Given the description of an element on the screen output the (x, y) to click on. 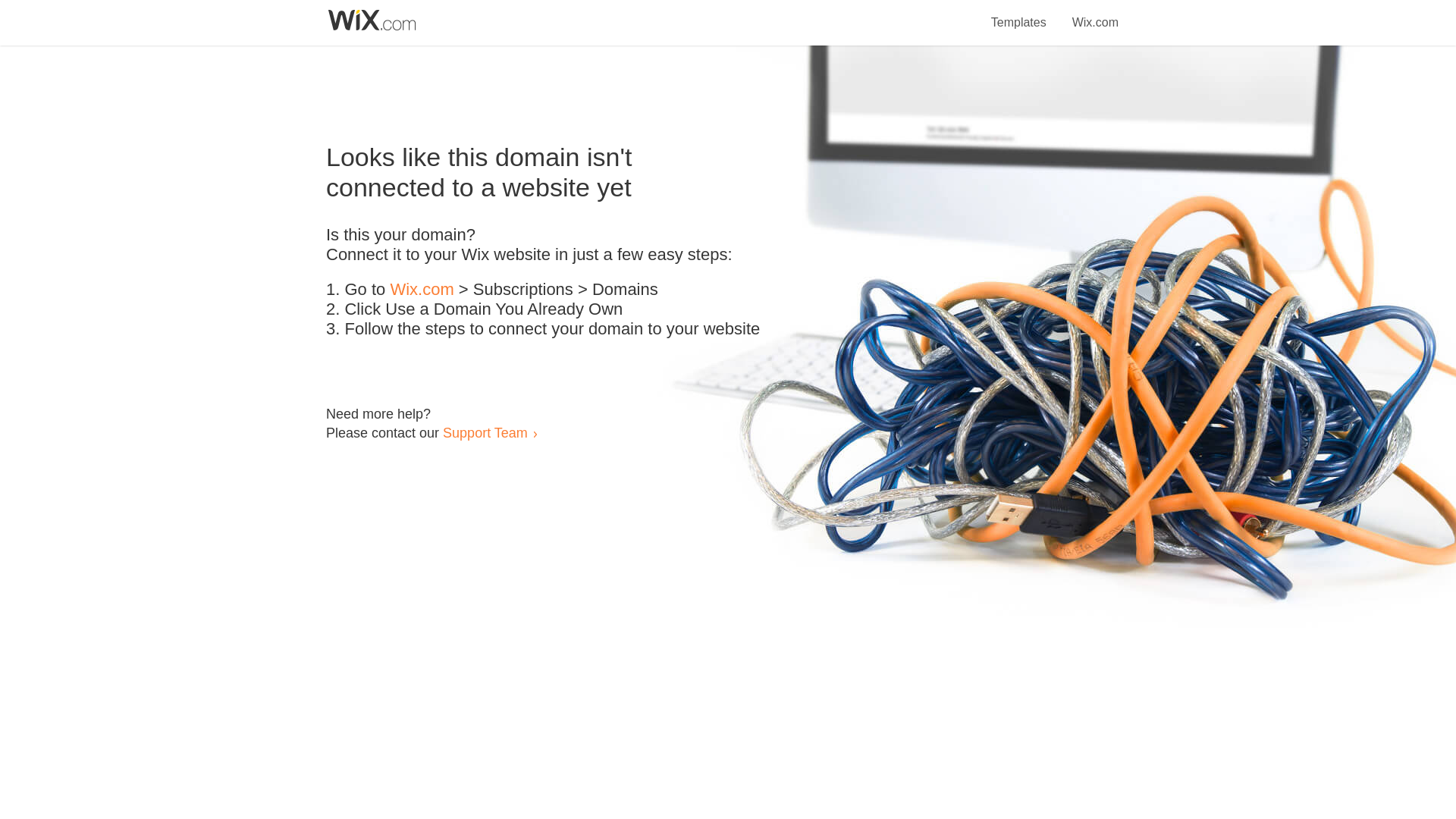
Templates (1018, 14)
Wix.com (421, 289)
Support Team (484, 432)
Wix.com (1095, 14)
